Given the description of an element on the screen output the (x, y) to click on. 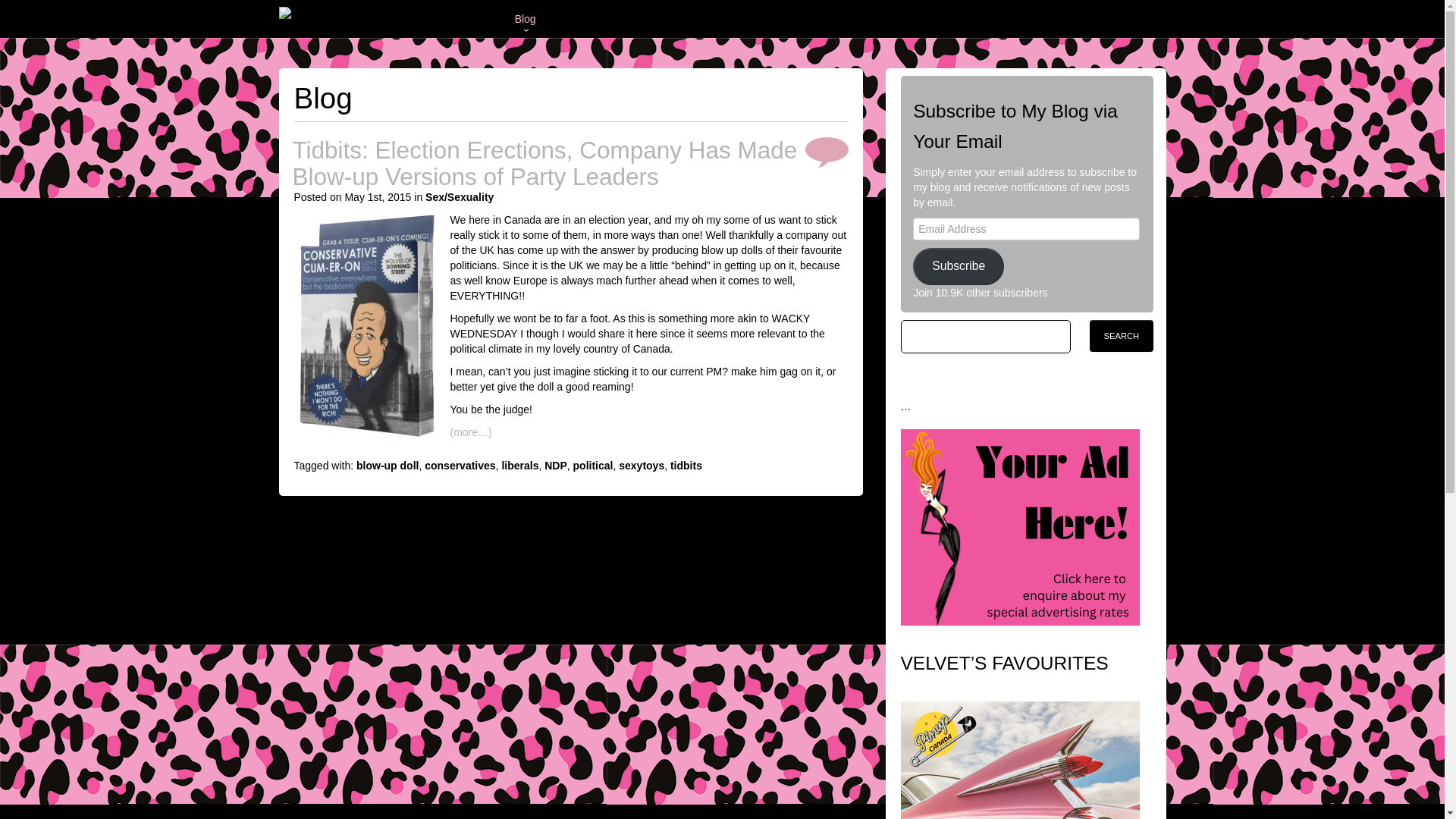
Search (1121, 336)
Links (840, 18)
Blog (524, 18)
advertising (1020, 526)
Photos (571, 18)
VelveTV (624, 18)
Contact (888, 18)
Shopping With Velvet (713, 18)
About (795, 18)
Pinup Canada (1020, 798)
